Given the description of an element on the screen output the (x, y) to click on. 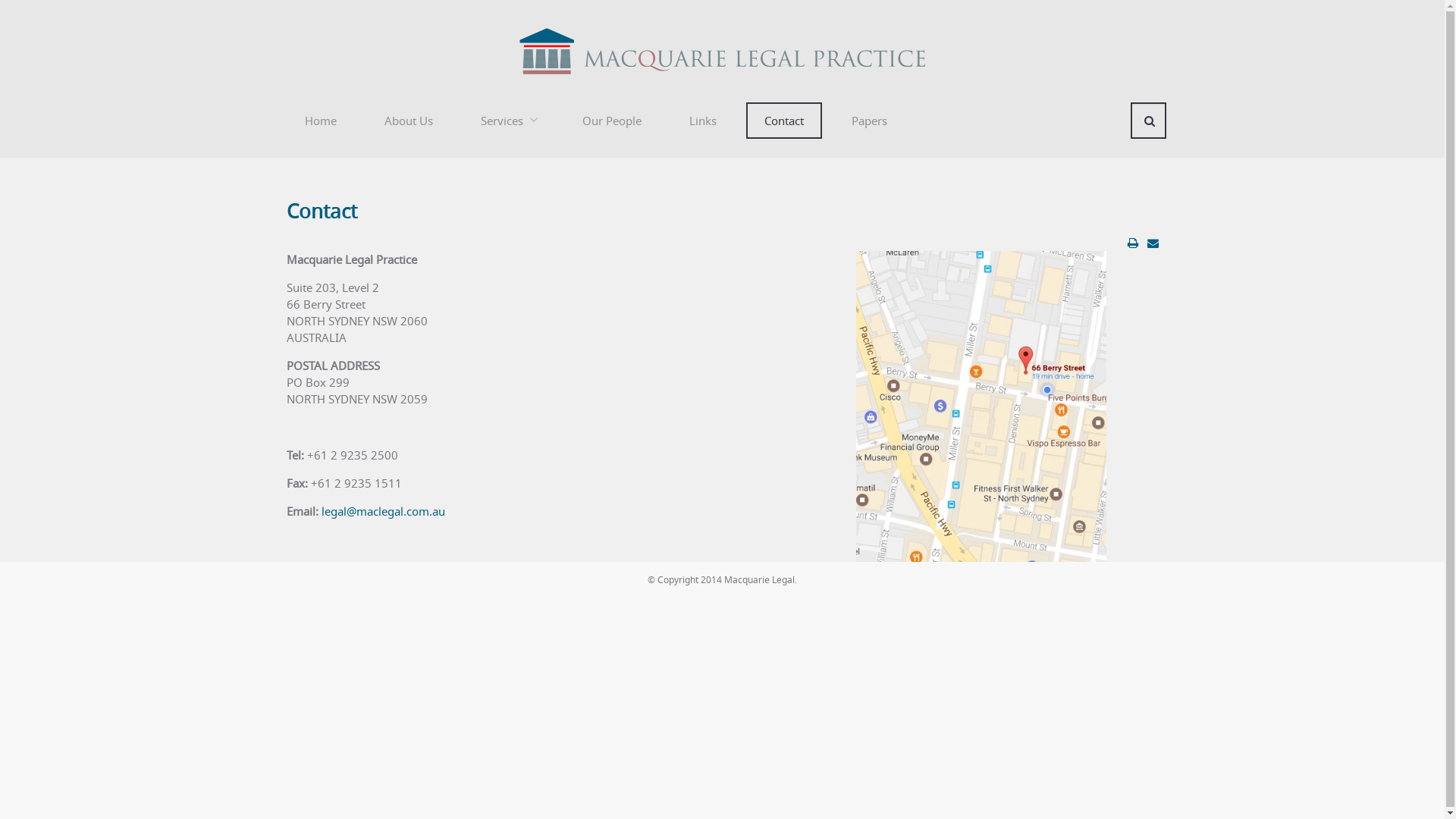
Email this link to a friend Element type: hover (1151, 242)
About Us Element type: text (407, 120)
Papers Element type: text (868, 120)
Contact Element type: text (321, 210)
Our People Element type: text (611, 120)
Services Element type: text (507, 120)
legal@maclegal.com.au Element type: text (383, 510)
Links Element type: text (701, 120)
Home Element type: text (320, 120)
Contact Element type: text (783, 120)
Print article < Contact > Element type: hover (1131, 242)
